Given the description of an element on the screen output the (x, y) to click on. 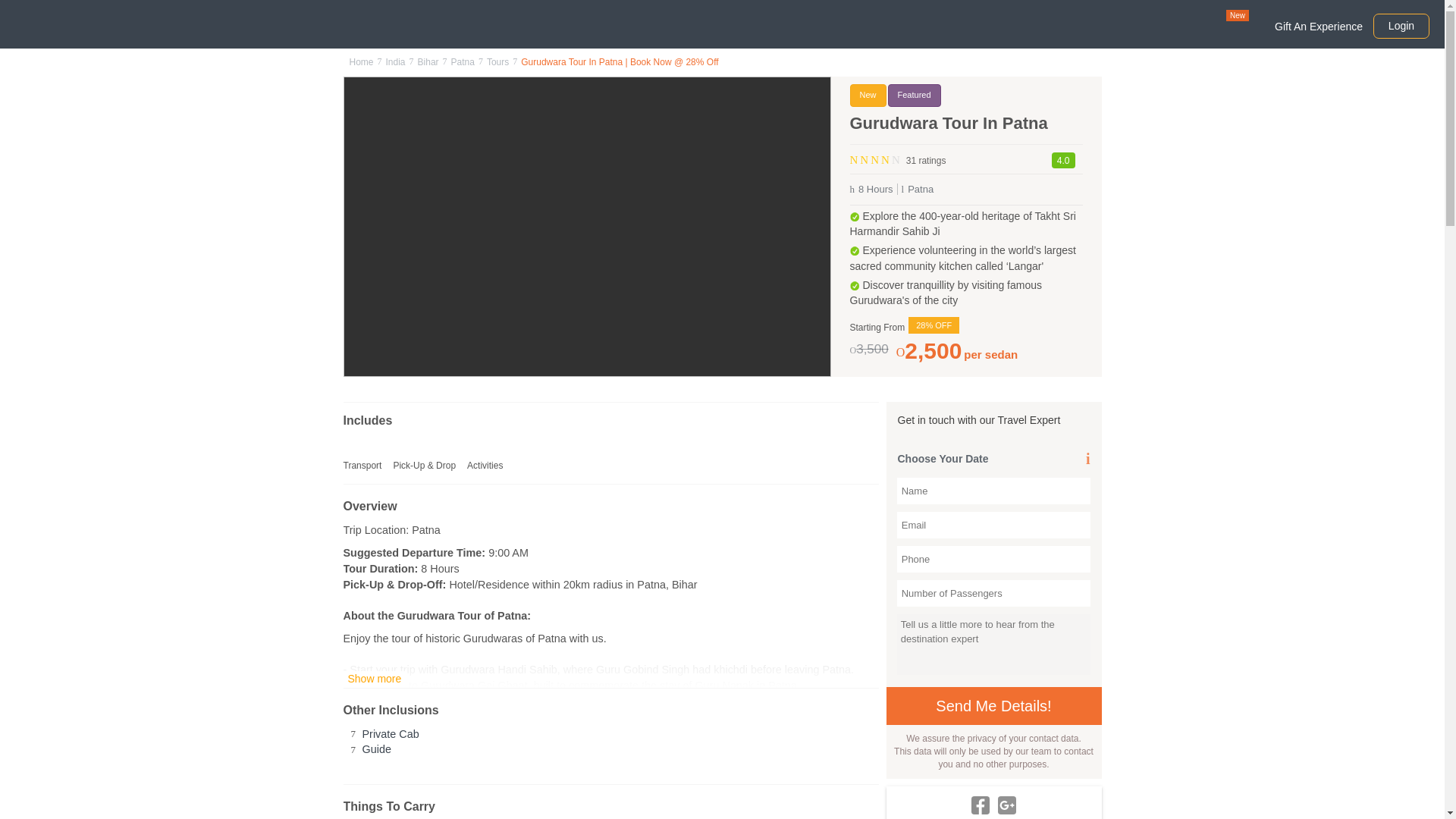
Bihar (428, 61)
Home (360, 61)
31 ratings (924, 158)
Featured (914, 95)
India (395, 61)
Login (1401, 25)
Thrillophilia (75, 21)
Send me details! (992, 705)
Tours (497, 61)
Show more (374, 678)
